Given the description of an element on the screen output the (x, y) to click on. 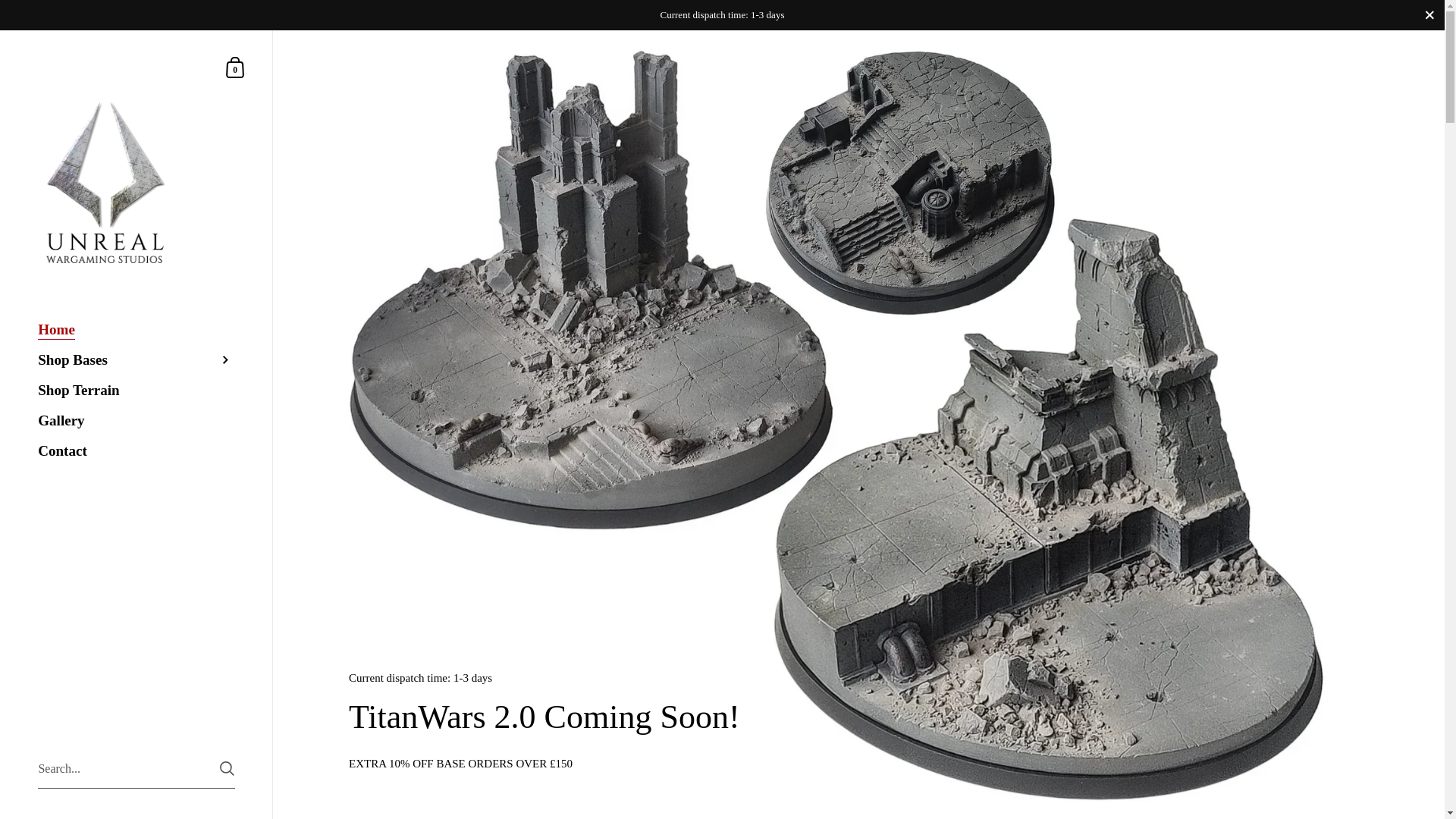
Shop Terrain (136, 390)
Home (136, 329)
Shop Bases (136, 359)
Gallery (136, 420)
Shopping Cart (235, 66)
Contact (235, 66)
Skip to content (136, 450)
